Given the description of an element on the screen output the (x, y) to click on. 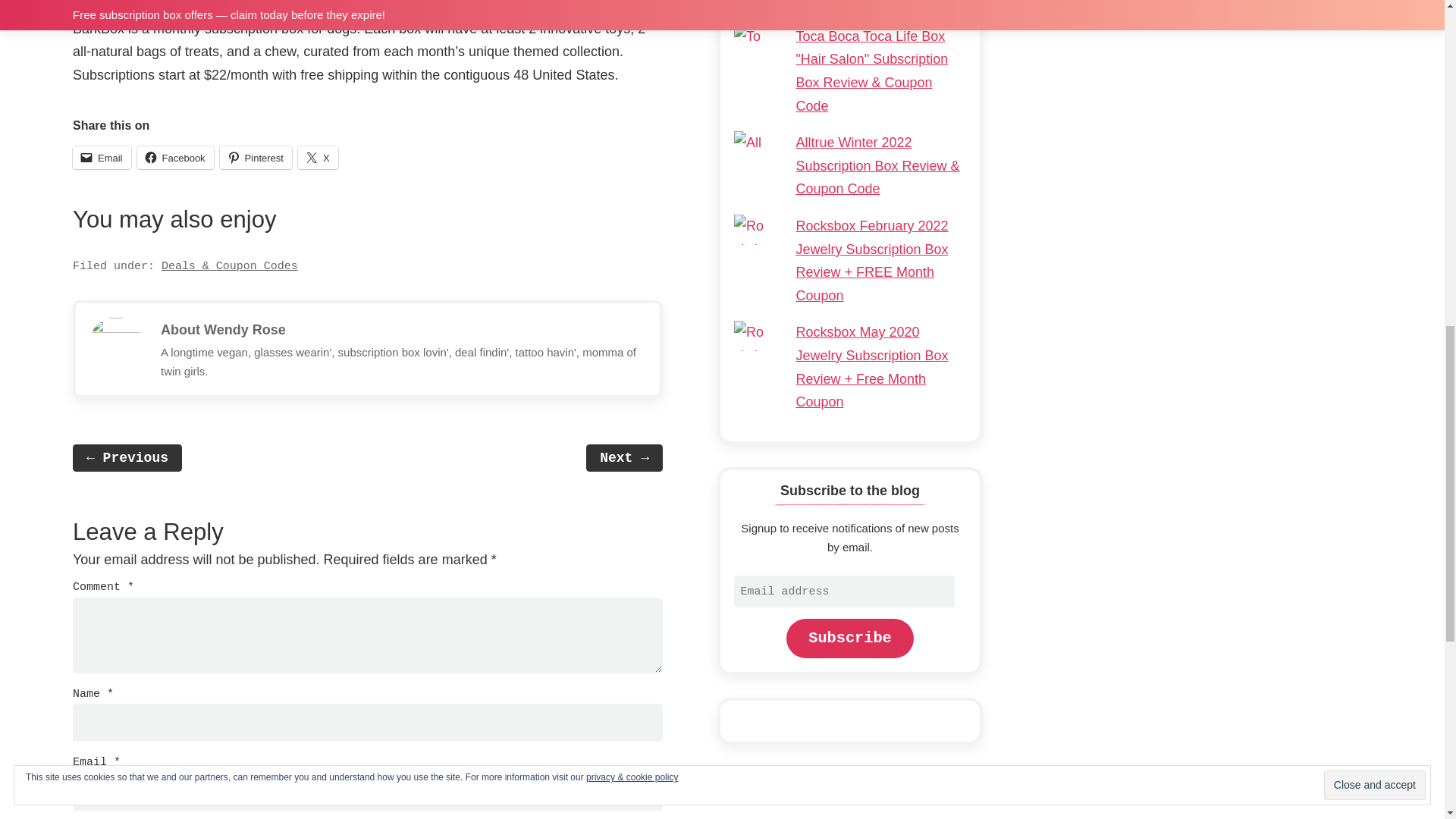
Click to email a link to a friend (101, 157)
Click to share on Facebook (175, 157)
Pinterest (255, 157)
Email (101, 157)
Click to share on X (317, 157)
Click to share on Pinterest (255, 157)
Facebook (175, 157)
